Given the description of an element on the screen output the (x, y) to click on. 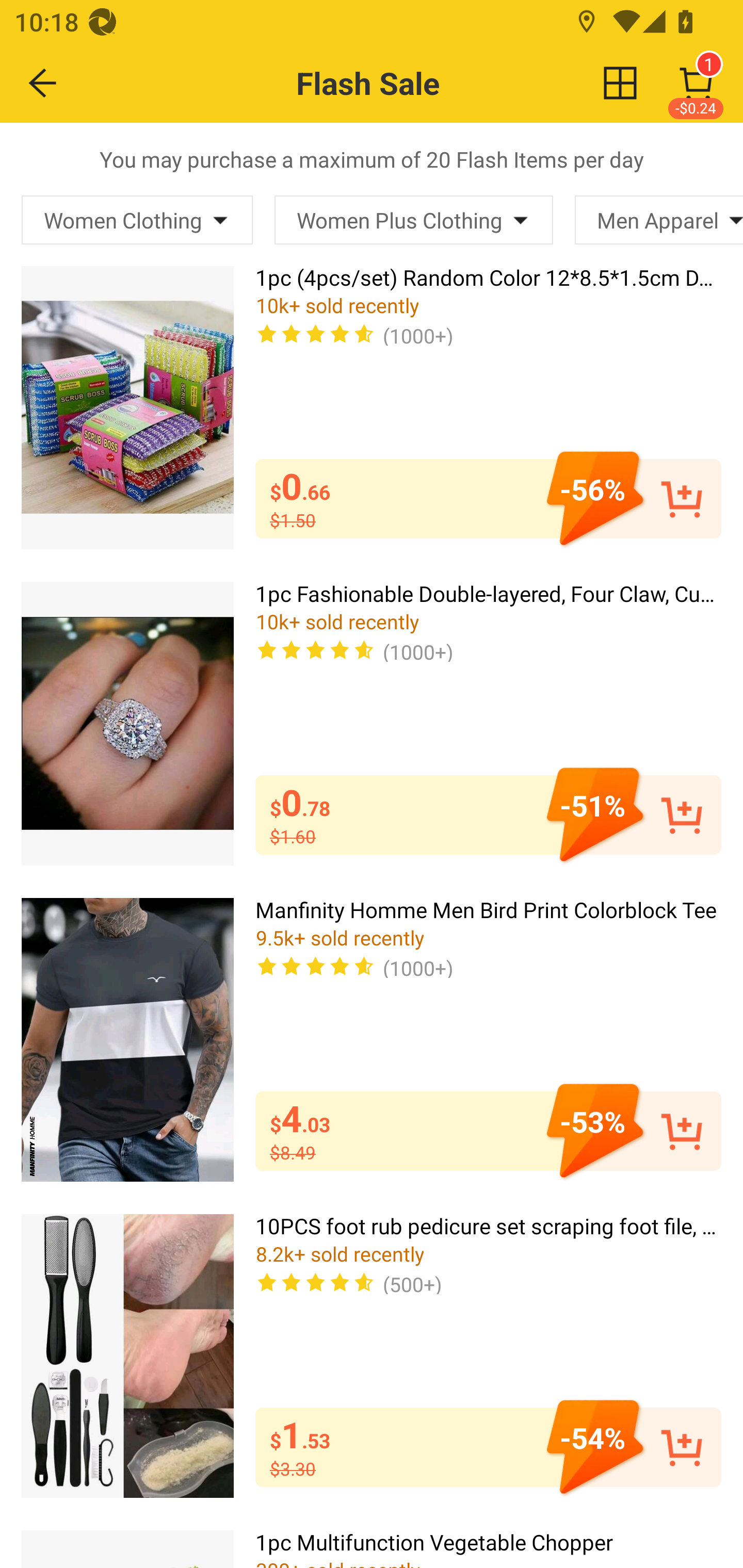
Flash Sale change view 1 -$0.24 (414, 82)
1 -$0.24 (695, 82)
change view (620, 82)
BACK (43, 83)
Women Clothing (136, 220)
Women Plus Clothing (413, 220)
Men Apparel (659, 220)
Manfinity Homme Men Bird Print Colorblock Tee (127, 1040)
